Given the description of an element on the screen output the (x, y) to click on. 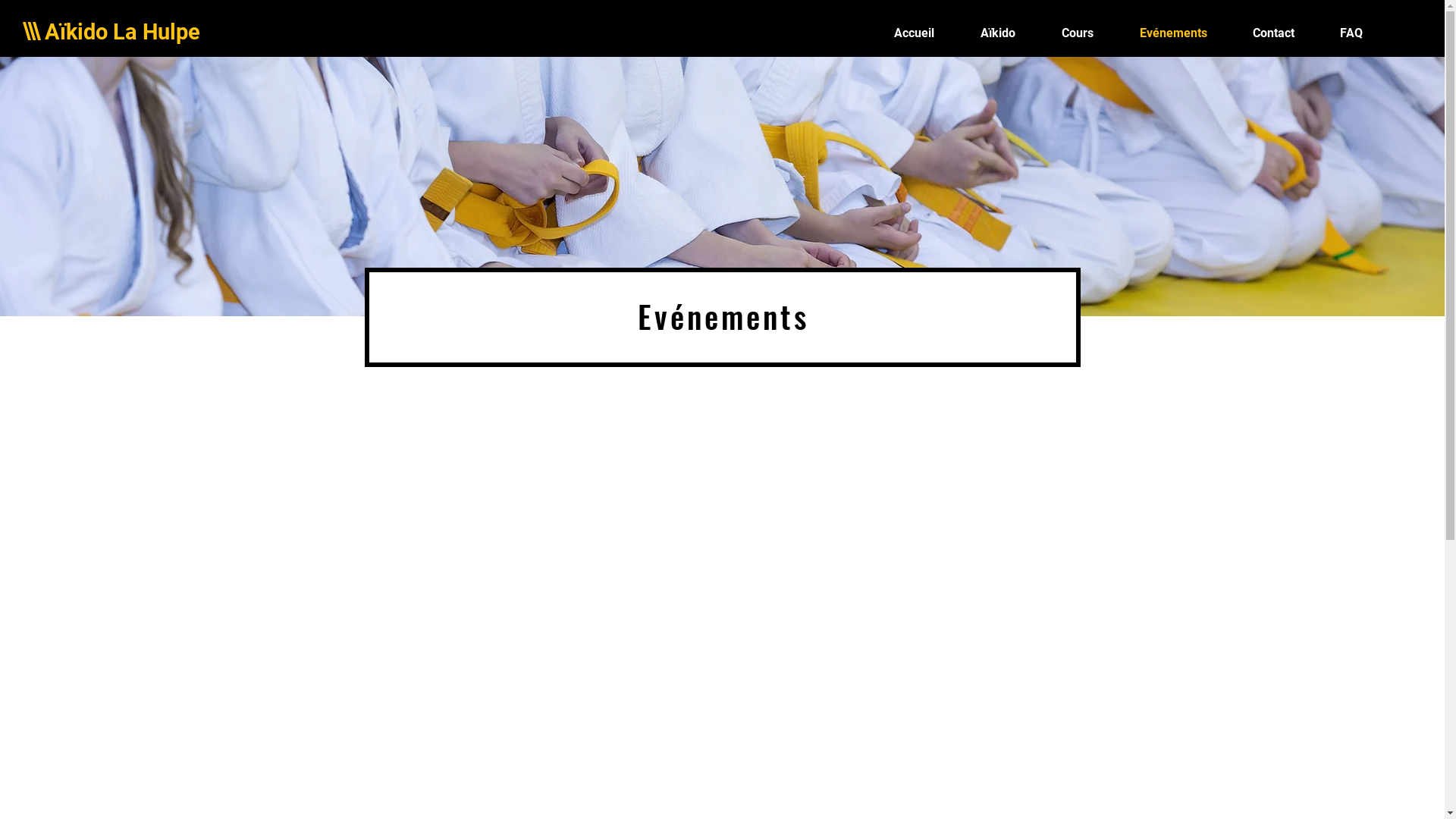
Accueil Element type: text (913, 32)
FAQ Element type: text (1351, 32)
Contact Element type: text (1273, 32)
Cours Element type: text (1077, 32)
